Given the description of an element on the screen output the (x, y) to click on. 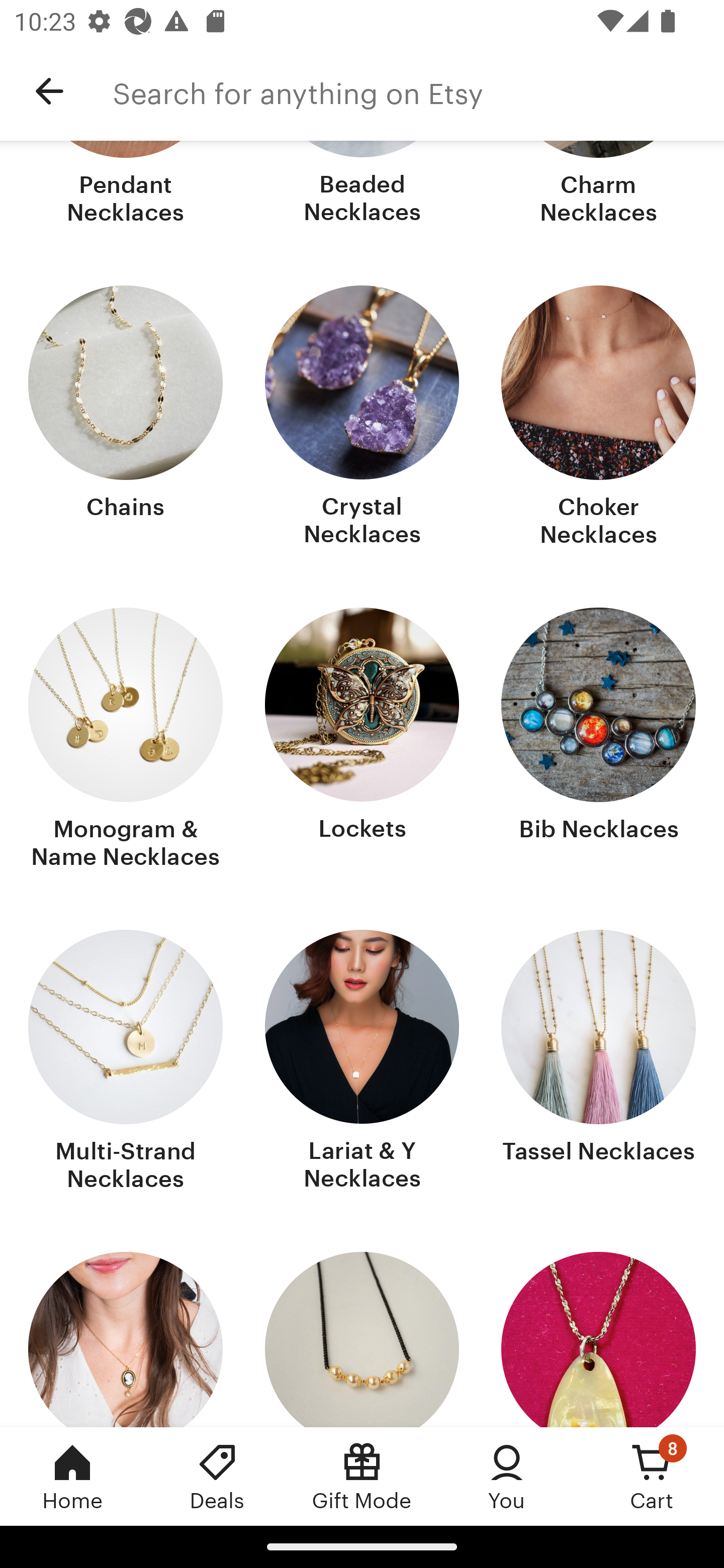
Navigate up (49, 91)
Search for anything on Etsy (418, 91)
Pendant Necklaces (125, 184)
Beaded Necklaces (361, 184)
Charm Necklaces (598, 184)
Chains (125, 418)
Crystal Necklaces (361, 418)
Choker Necklaces (598, 418)
Monogram & Name Necklaces (125, 740)
Lockets (361, 740)
Bib Necklaces (598, 740)
Multi-Strand Necklaces (125, 1061)
Lariat & Y Necklaces (361, 1061)
Tassel Necklaces (598, 1061)
Cameo Necklaces (125, 1338)
Mangalsutras (361, 1338)
Rani Haar (598, 1338)
Deals (216, 1475)
Gift Mode (361, 1475)
You (506, 1475)
Cart, 8 new notifications Cart (651, 1475)
